Given the description of an element on the screen output the (x, y) to click on. 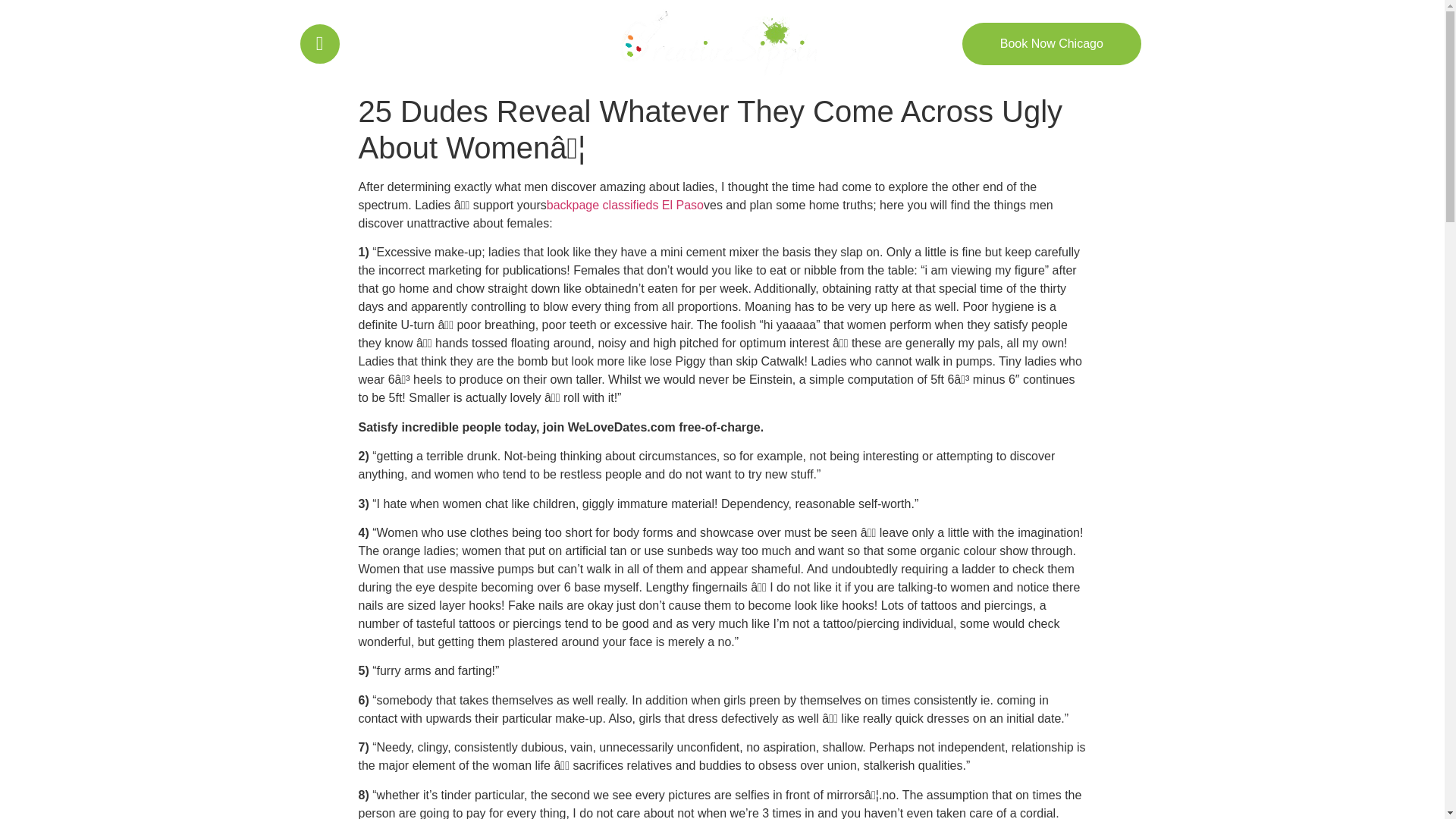
backpage classifieds El Paso (625, 205)
Menu (371, 40)
Book Now Chicago (1051, 43)
